Given the description of an element on the screen output the (x, y) to click on. 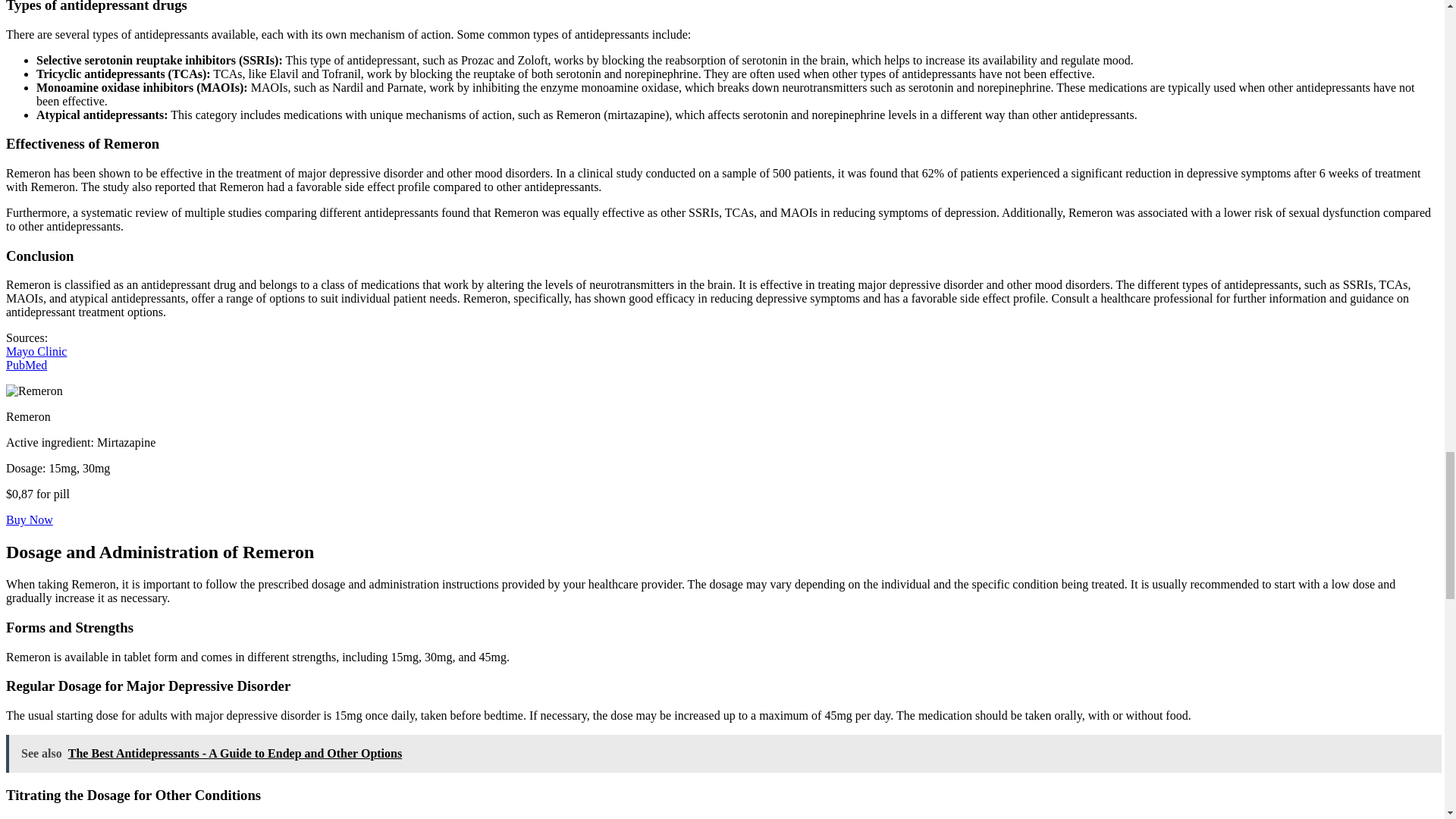
Buy Now (28, 519)
PubMed (25, 364)
Mayo Clinic (35, 350)
